Given the description of an element on the screen output the (x, y) to click on. 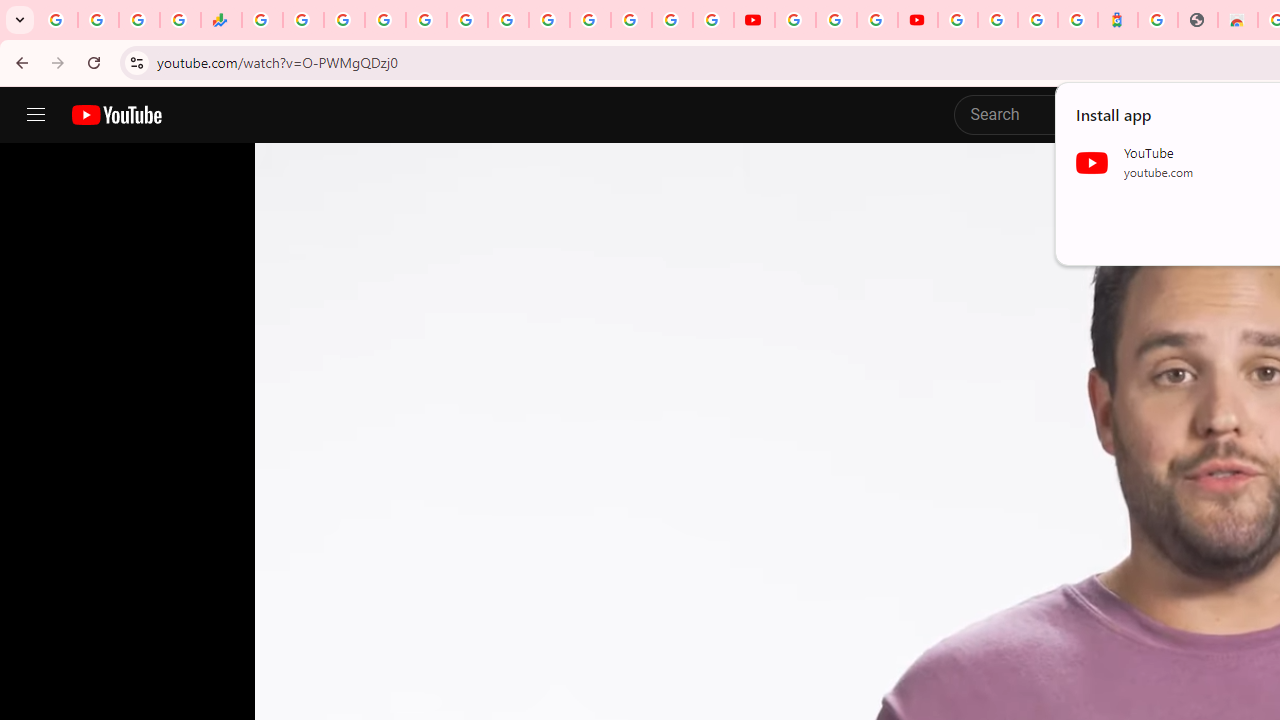
Sign in - Google Accounts (384, 20)
Create your Google Account (877, 20)
YouTube (753, 20)
Sign in - Google Accounts (997, 20)
